Given the description of an element on the screen output the (x, y) to click on. 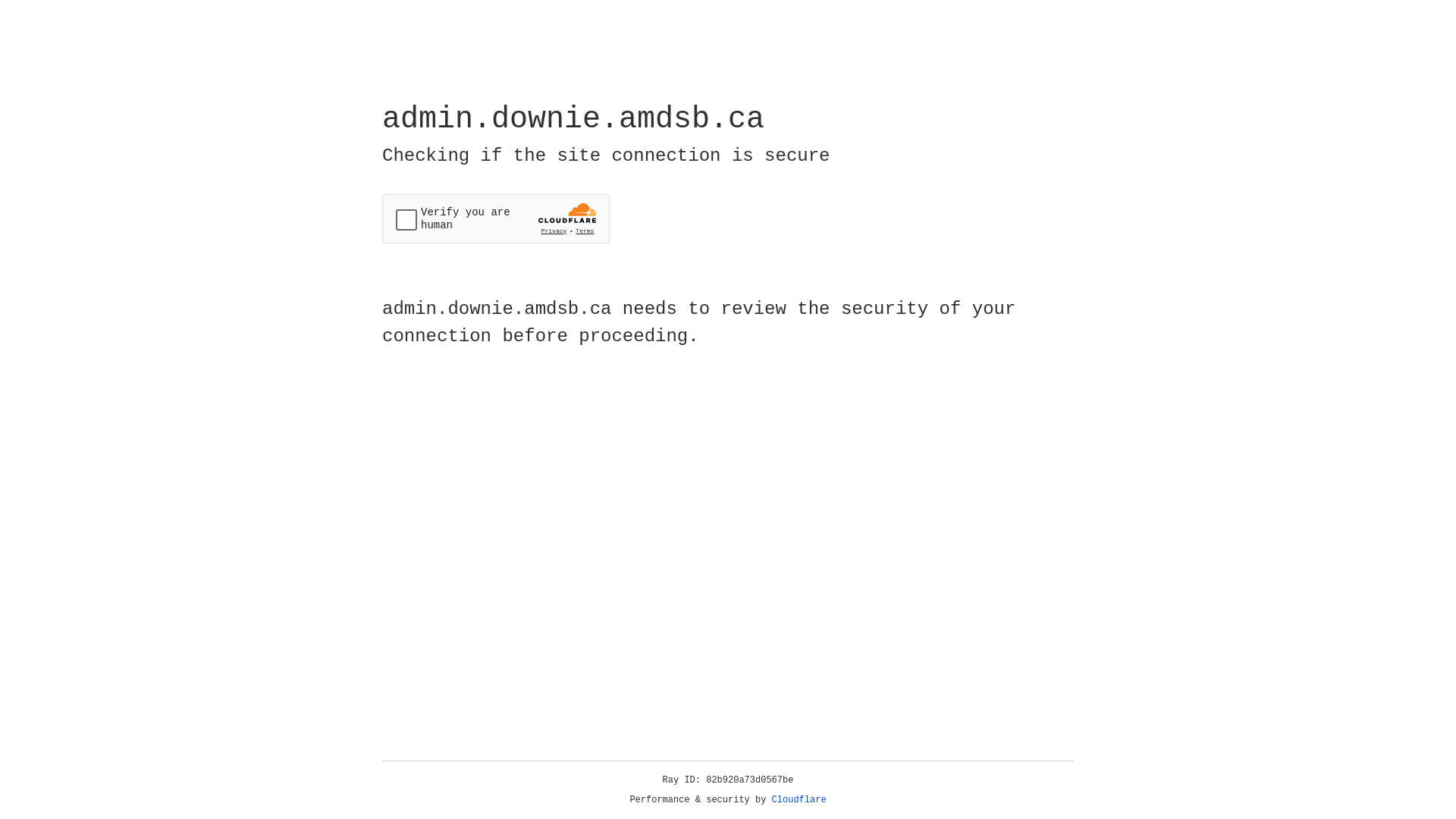
Cloudflare Element type: text (798, 799)
Widget containing a Cloudflare security challenge Element type: hover (495, 218)
